Given the description of an element on the screen output the (x, y) to click on. 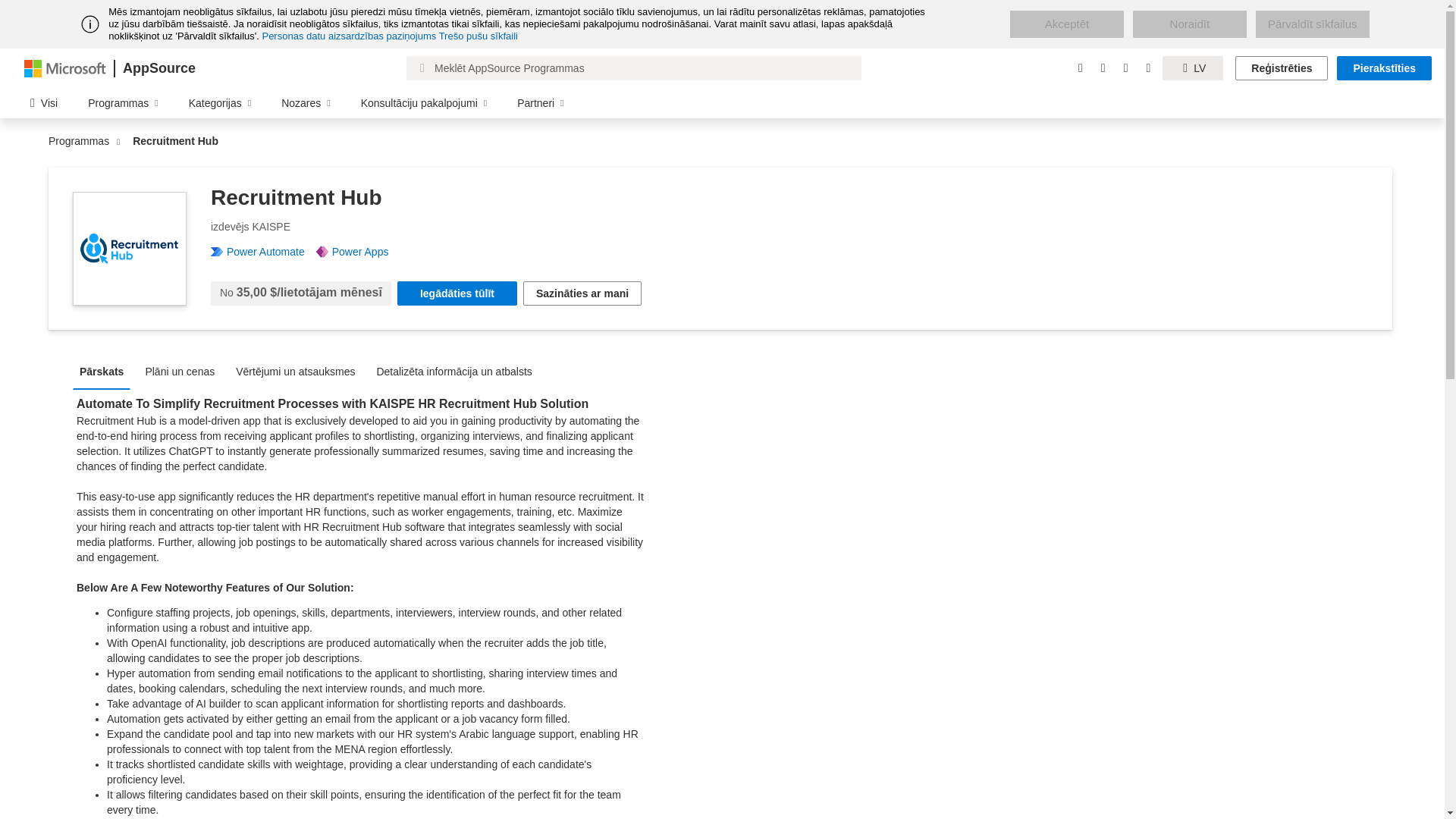
Microsoft (65, 67)
Power Apps (365, 251)
Power Automate (271, 251)
Programmas (82, 141)
AppSource (158, 67)
Power Apps (365, 251)
Power Automate (271, 251)
